Given the description of an element on the screen output the (x, y) to click on. 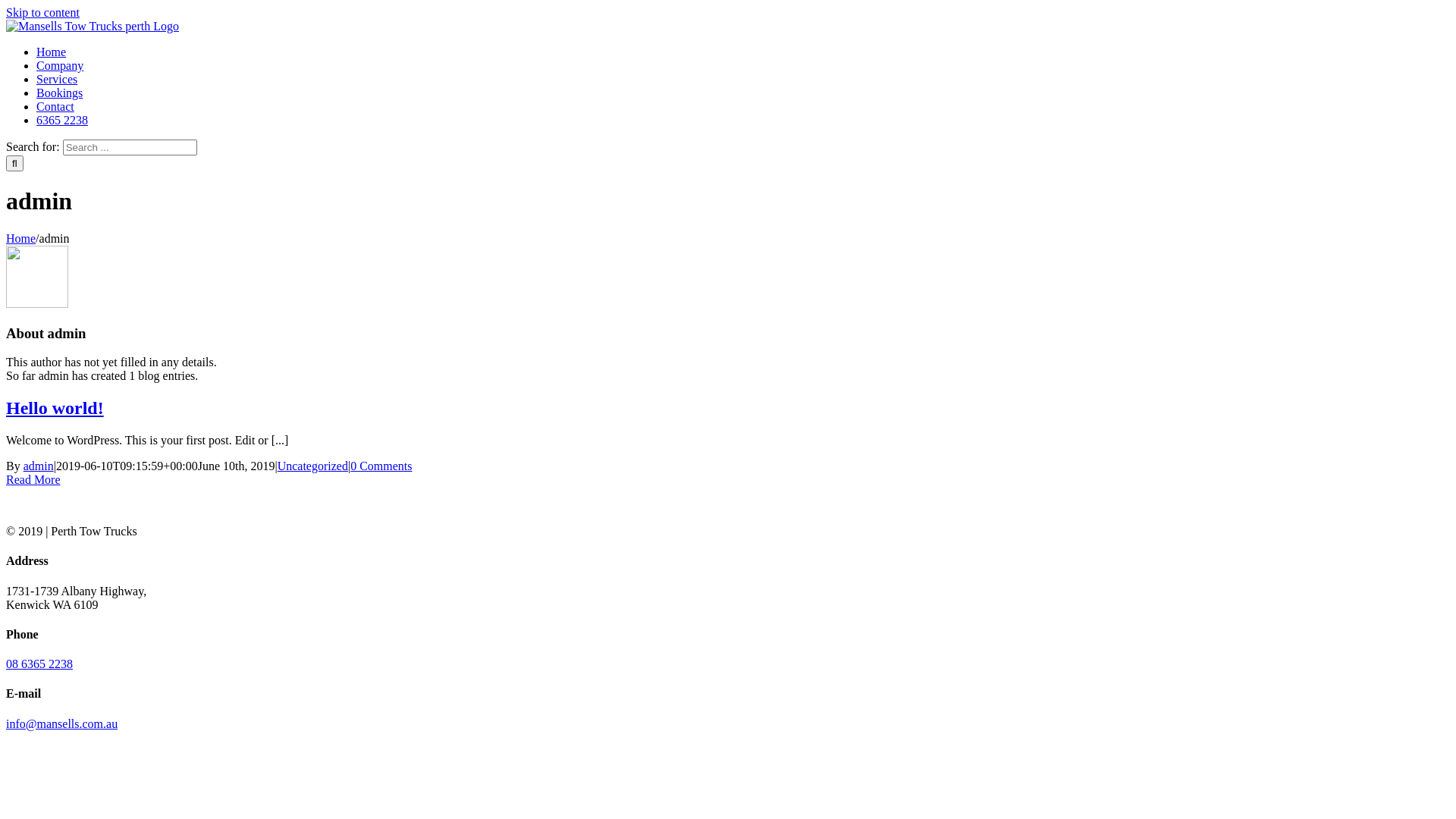
Hello world! Element type: text (54, 407)
Uncategorized Element type: text (312, 465)
admin Element type: text (38, 465)
Skip to content Element type: text (42, 12)
Home Element type: text (20, 238)
Company Element type: text (59, 65)
Home Element type: text (50, 51)
Services Element type: text (56, 78)
08 6365 2238 Element type: text (39, 663)
Contact Element type: text (55, 106)
6365 2238 Element type: text (61, 119)
info@mansells.com.au Element type: text (61, 723)
0 Comments Element type: text (380, 465)
Bookings Element type: text (59, 92)
Read More Element type: text (33, 479)
